Given the description of an element on the screen output the (x, y) to click on. 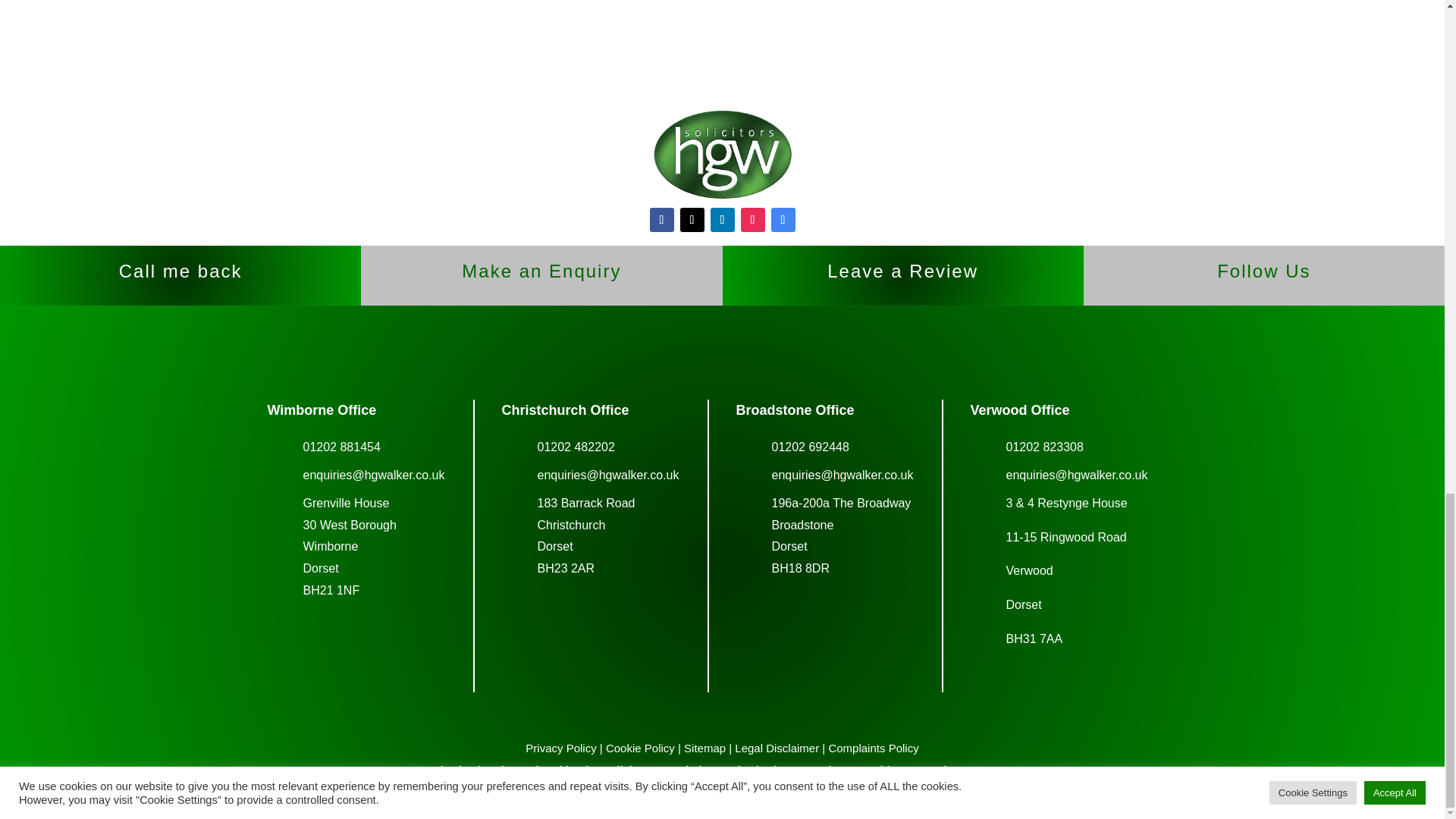
Follow on Instagram (751, 219)
Follow on Google (782, 219)
Follow on Facebook (660, 219)
Follow on LinkedIn (721, 219)
HGW-logo-less-than-100kb-removebg-preview (721, 154)
Follow on Twitter (691, 219)
